Given the description of an element on the screen output the (x, y) to click on. 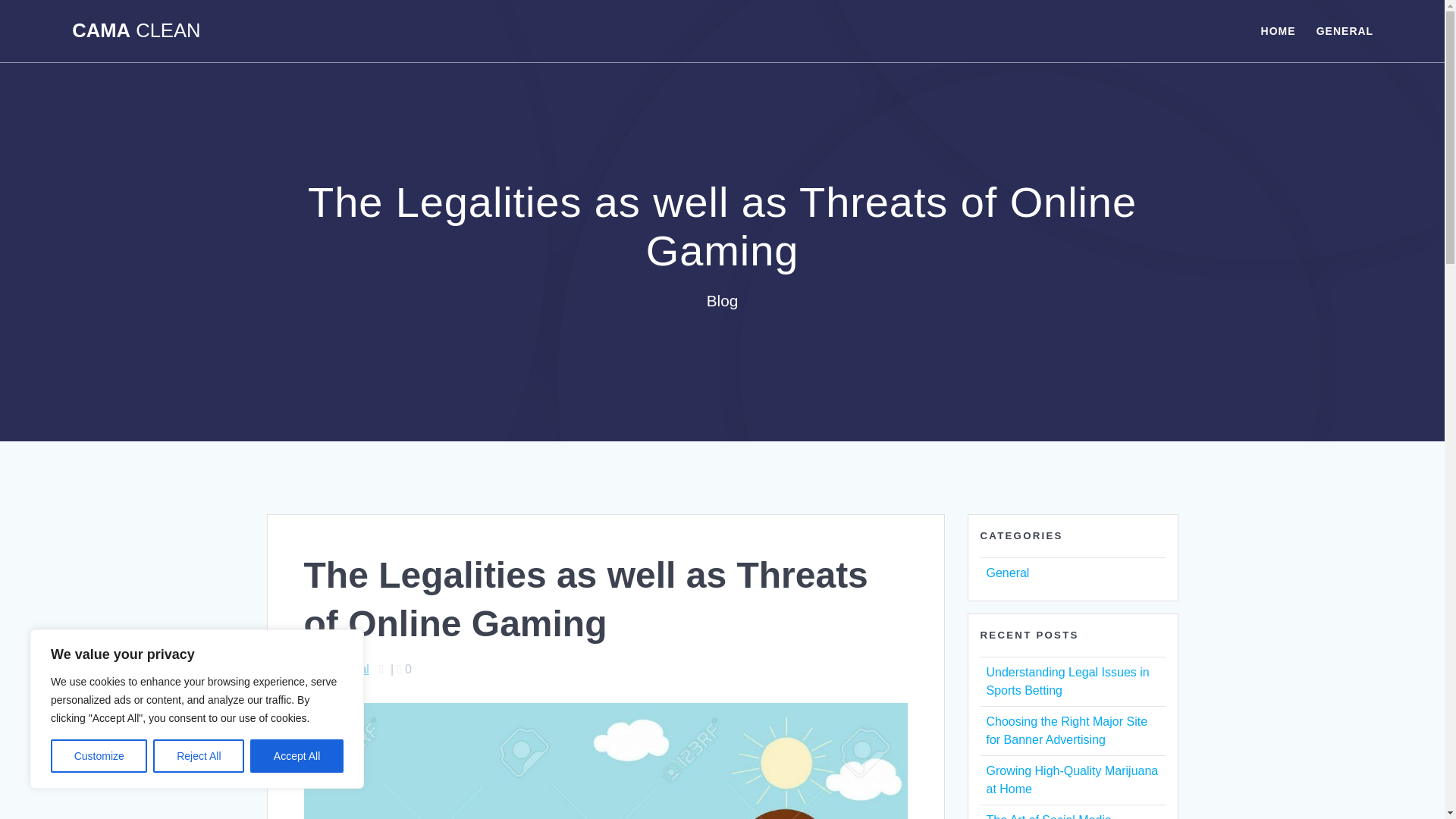
Choosing the Right Major Site for Banner Advertising (1066, 730)
GENERAL (1344, 30)
Growing High-Quality Marijuana at Home (1071, 779)
Reject All (198, 756)
Understanding Legal Issues in Sports Betting (1066, 680)
Customize (98, 756)
General (1007, 572)
CAMA CLEAN (135, 30)
Accept All (296, 756)
The Art of Social Media Management (1047, 816)
HOME (1277, 30)
General (347, 668)
